Given the description of an element on the screen output the (x, y) to click on. 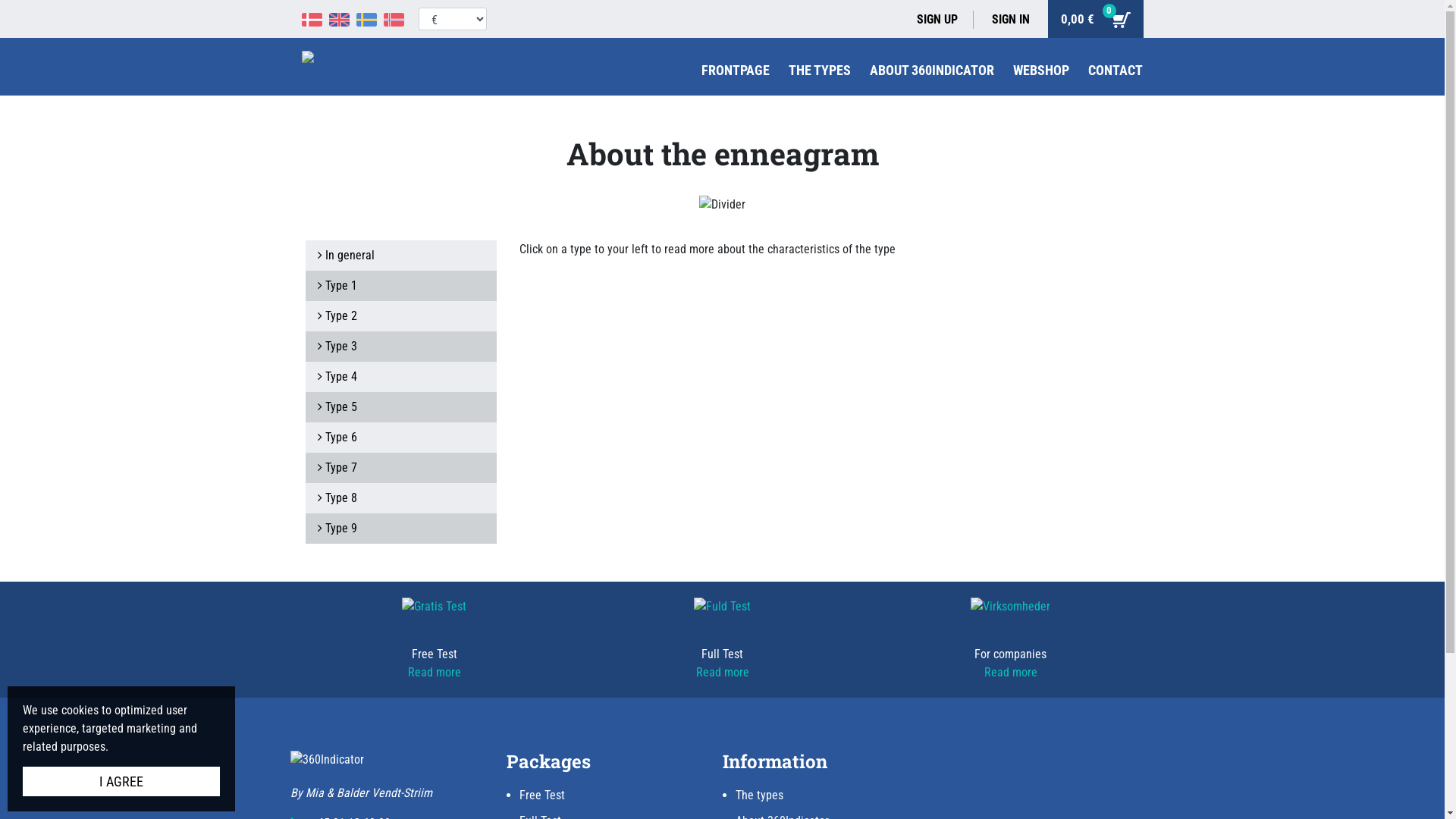
Type 3 Element type: text (400, 346)
THE TYPES Element type: text (819, 70)
Free Test Element type: text (541, 794)
Type 2 Element type: text (400, 316)
ABOUT 360INDICATOR Element type: text (931, 70)
Read more Element type: text (722, 672)
I AGREE Element type: text (120, 781)
Type 6 Element type: text (400, 437)
Read more Element type: text (1010, 672)
Type 1 Element type: text (400, 285)
CONTACT Element type: text (1114, 70)
Type 4 Element type: text (400, 376)
The types Element type: text (759, 794)
Type 8 Element type: text (400, 498)
Type 7 Element type: text (400, 467)
SIGN UP Element type: text (944, 19)
Read more Element type: text (434, 672)
SIGN IN Element type: text (1010, 19)
In general Element type: text (400, 255)
WEBSHOP Element type: text (1041, 70)
Type 5 Element type: text (400, 407)
FRONTPAGE Element type: text (734, 70)
Type 9 Element type: text (400, 528)
